Given the description of an element on the screen output the (x, y) to click on. 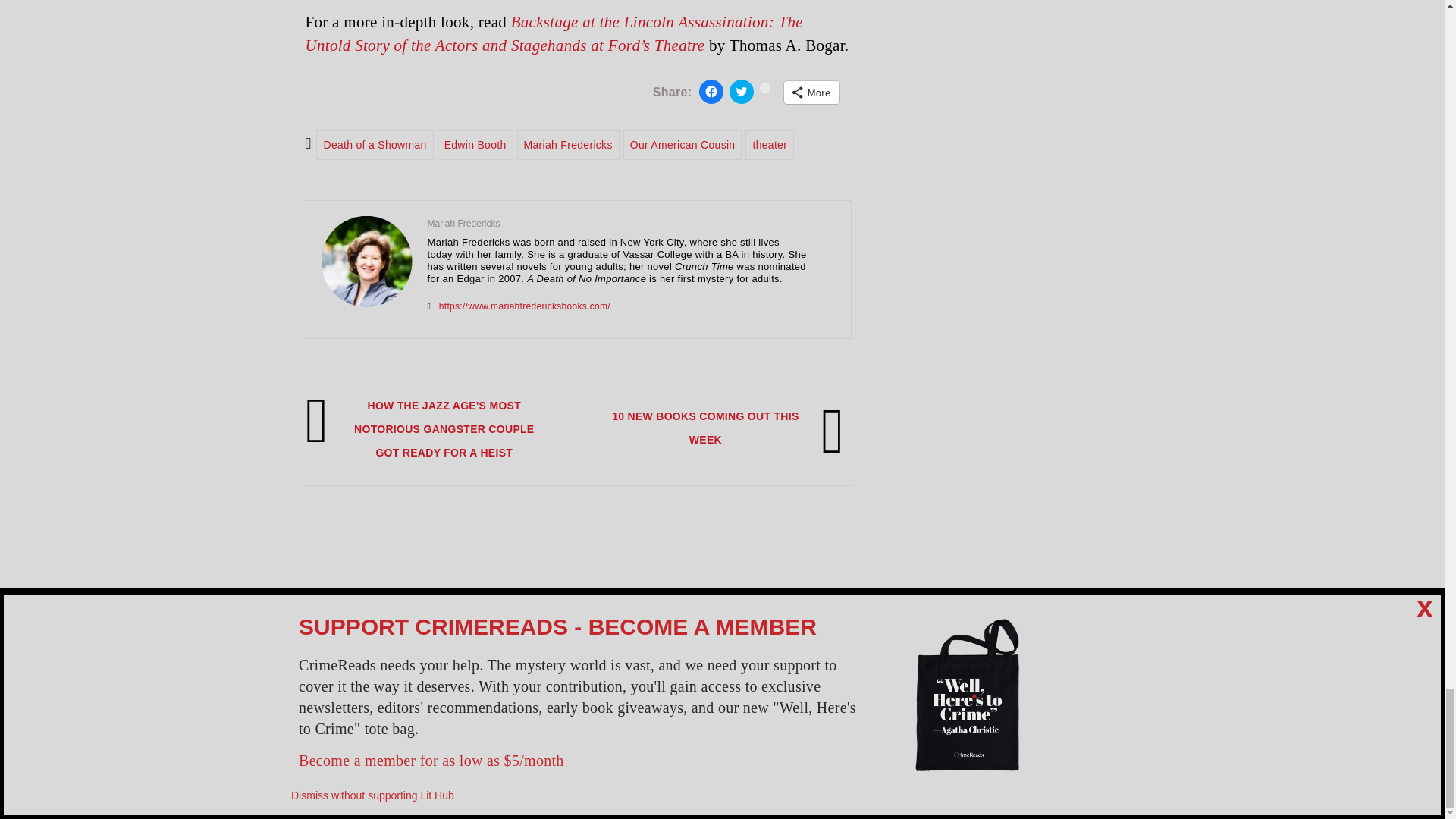
Share on Facebook (710, 91)
Click to share on Twitter (741, 91)
